Given the description of an element on the screen output the (x, y) to click on. 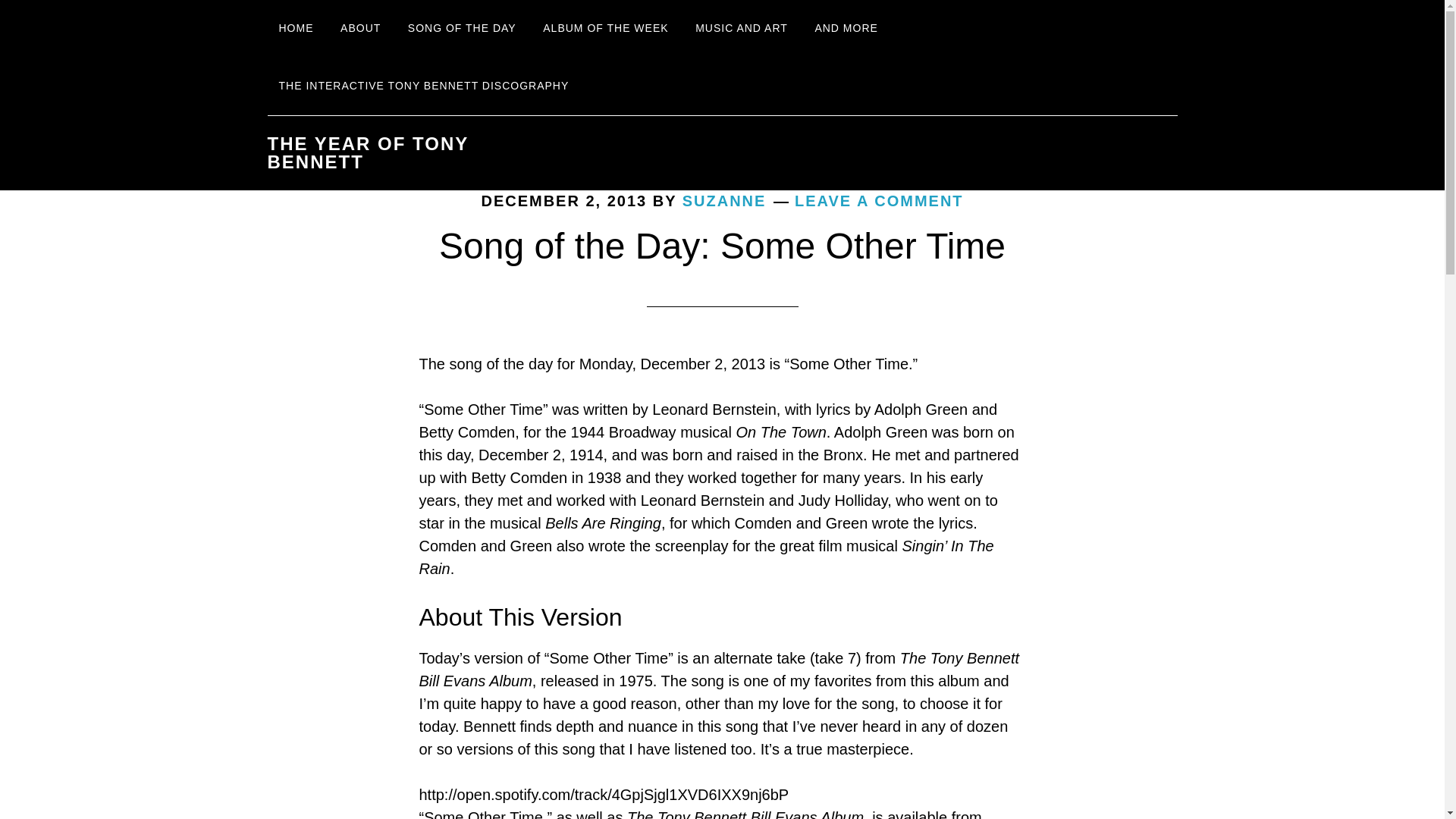
LEAVE A COMMENT (878, 200)
ALBUM OF THE WEEK (605, 28)
ABOUT (360, 28)
HOME (295, 28)
SONG OF THE DAY (461, 28)
AND MORE (845, 28)
THE YEAR OF TONY BENNETT (366, 152)
SUZANNE (724, 200)
MUSIC AND ART (741, 28)
THE INTERACTIVE TONY BENNETT DISCOGRAPHY (422, 86)
